Given the description of an element on the screen output the (x, y) to click on. 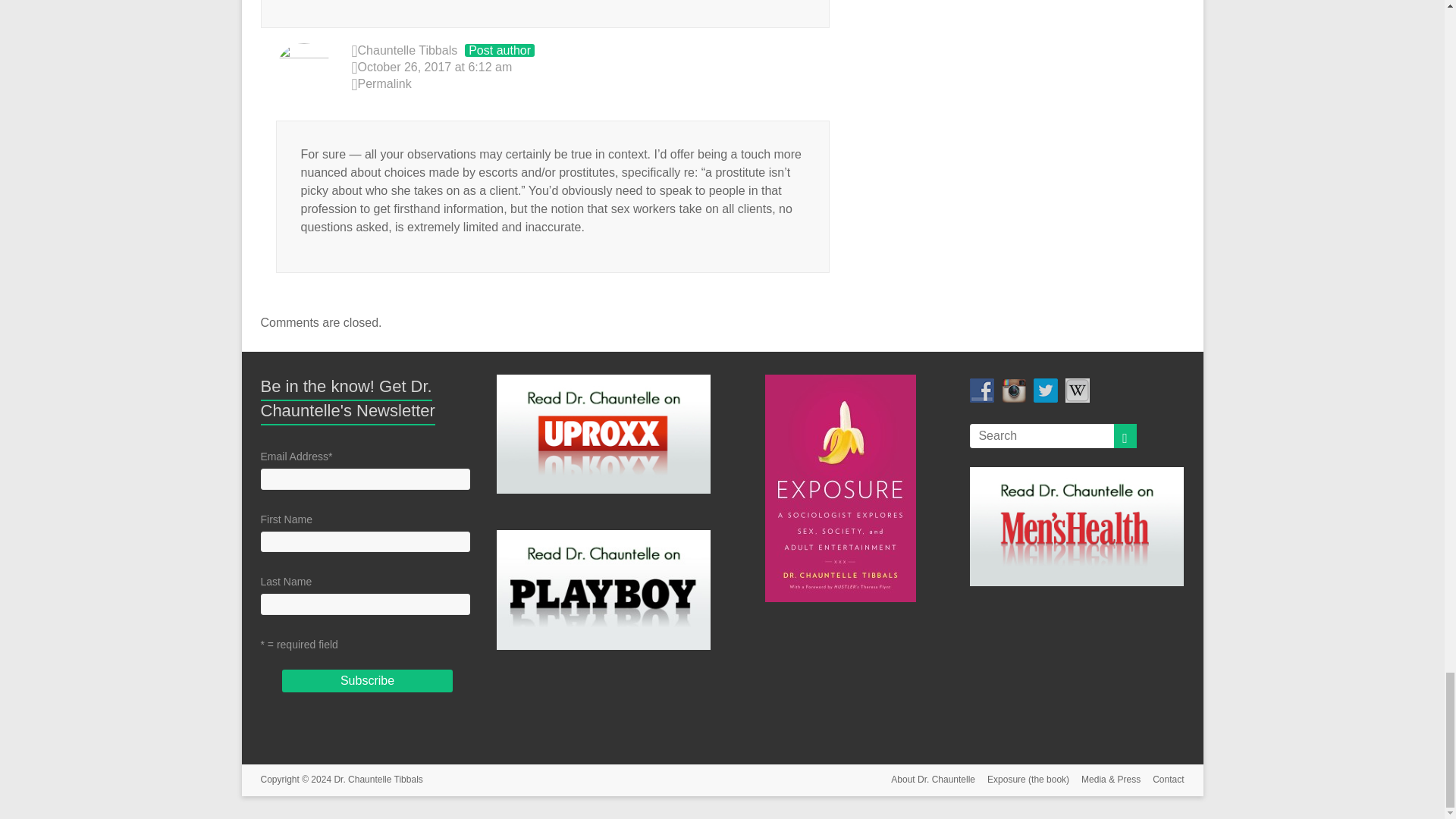
Visit me on Facebook (981, 390)
Permalink (590, 84)
Visit me on Instagram (1013, 390)
Chauntelle Tibbals (408, 50)
Subscribe (367, 680)
